Given the description of an element on the screen output the (x, y) to click on. 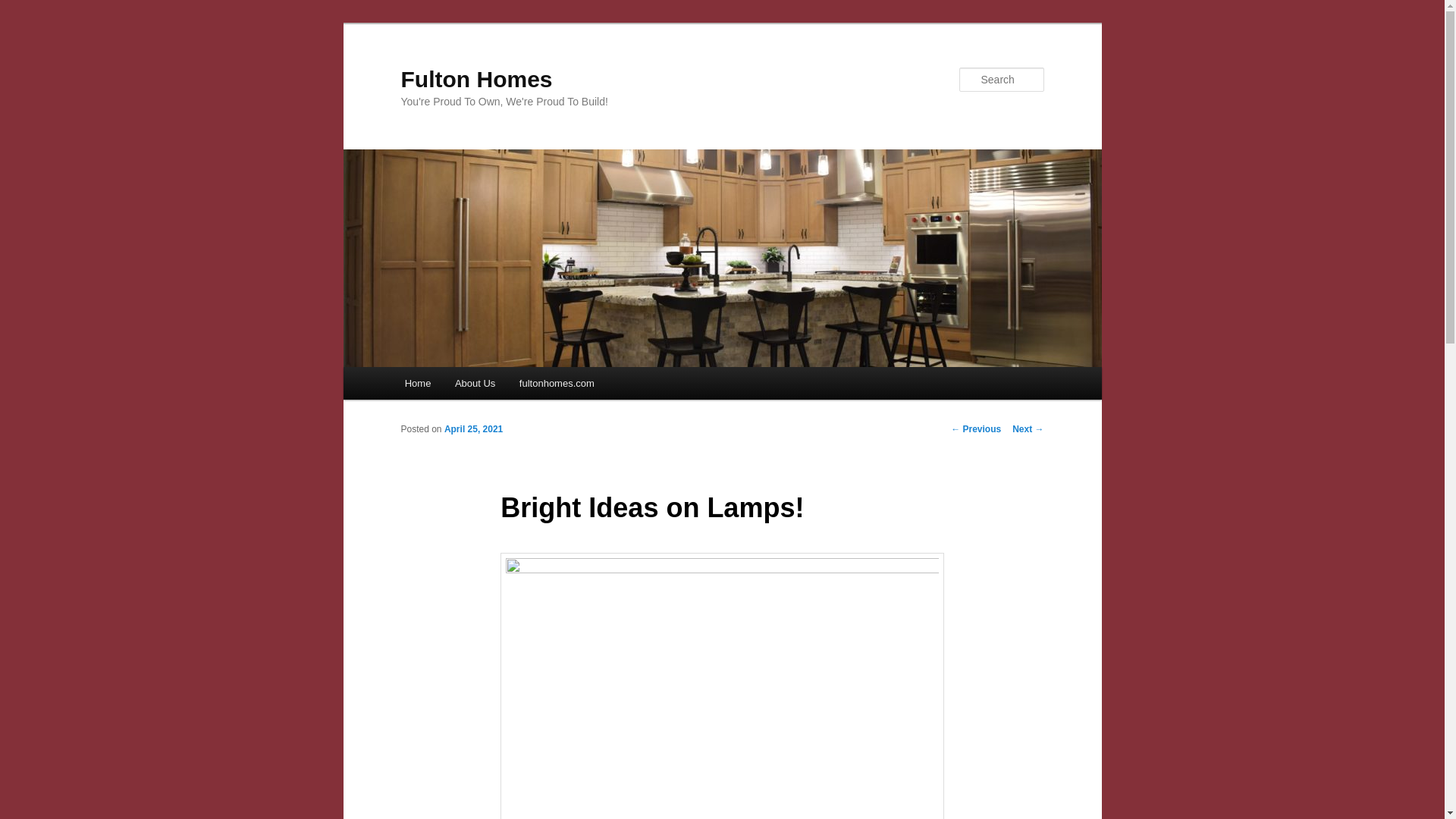
Search (24, 8)
Fulton Homes (475, 78)
April 25, 2021 (473, 429)
Home (417, 382)
11:34 am (473, 429)
About Us (474, 382)
fultonhomes.com (556, 382)
